Given the description of an element on the screen output the (x, y) to click on. 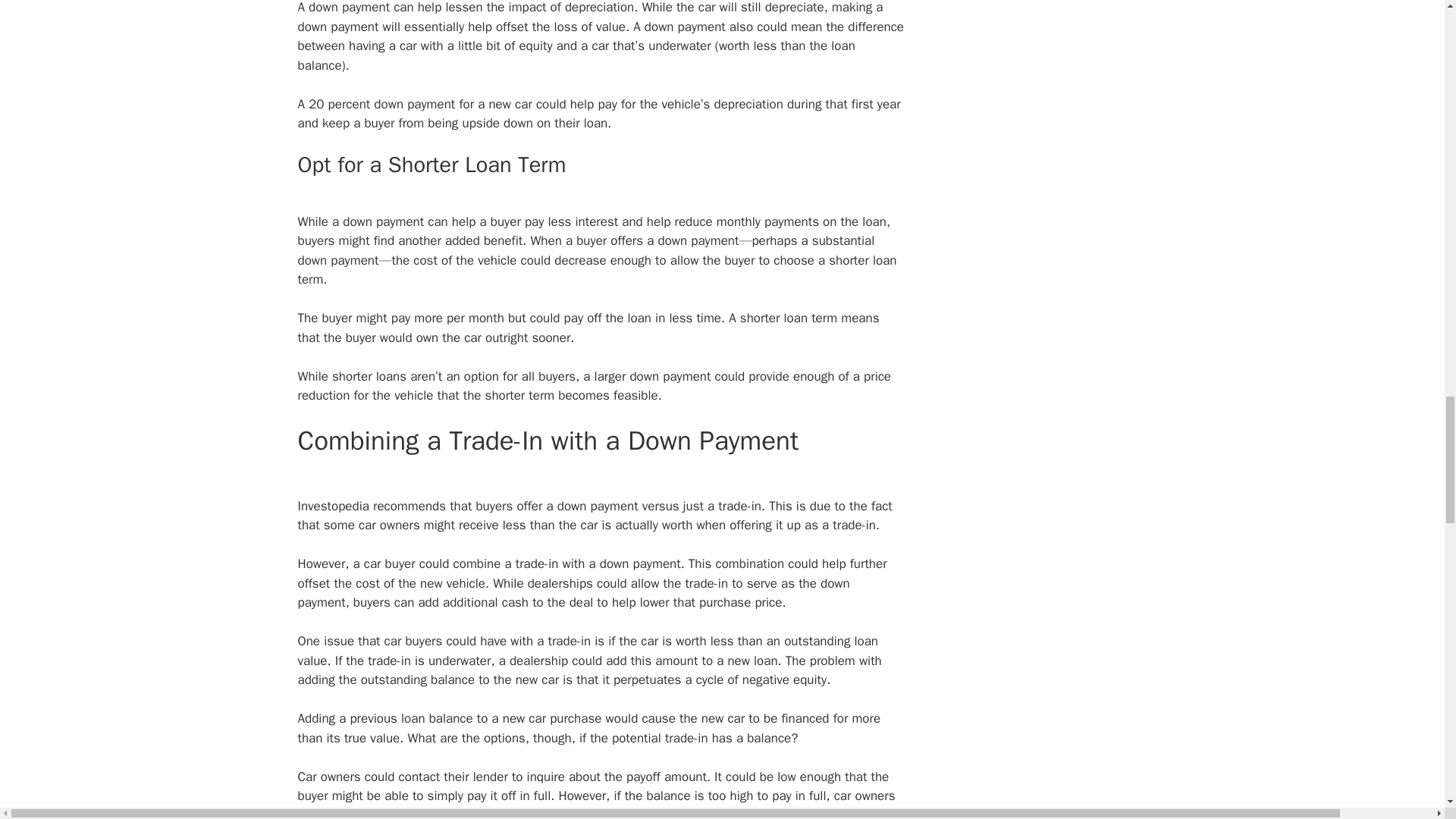
as a trade-in (840, 524)
stipulations on the selling process (797, 813)
could sell it privately (511, 813)
offer a down payment versus just a trade-in (636, 505)
